Given the description of an element on the screen output the (x, y) to click on. 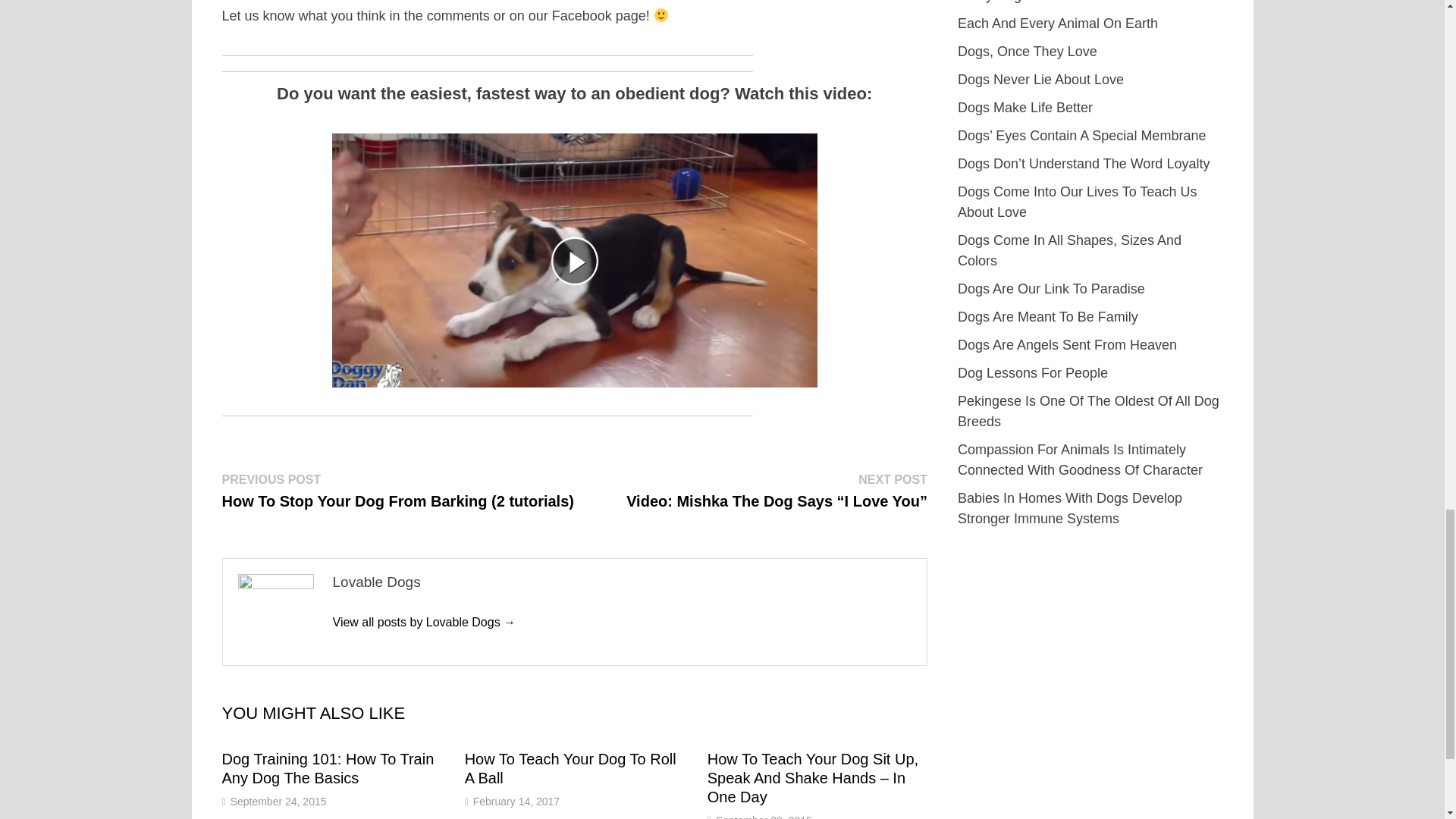
September 24, 2015 (278, 801)
How To Teach Your Dog To Roll A Ball (570, 768)
Dog Training 101: How To Train Any Dog The Basics (327, 768)
Dog Training 101: How To Train Any Dog The Basics (327, 768)
Lovable Dogs (423, 621)
February 14, 2017 (516, 801)
September 20, 2015 (764, 816)
How To Teach Your Dog To Roll A Ball (570, 768)
